Given the description of an element on the screen output the (x, y) to click on. 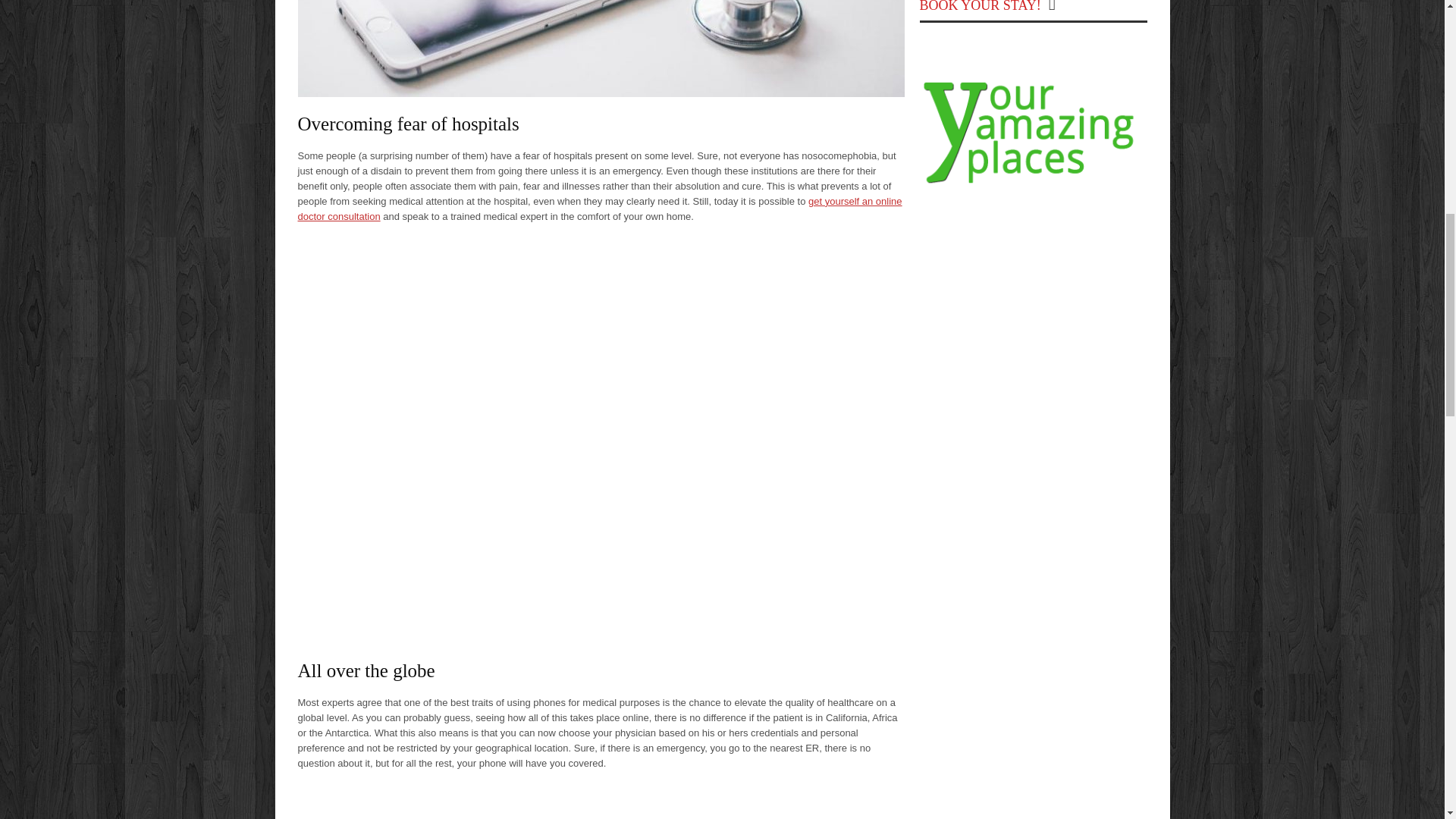
Use Your Phone's Advantages to Boost Your Health (600, 48)
Use Your Phone's Advantages to Boost Your Health (600, 802)
Your Amazing Places (1032, 183)
